Given the description of an element on the screen output the (x, y) to click on. 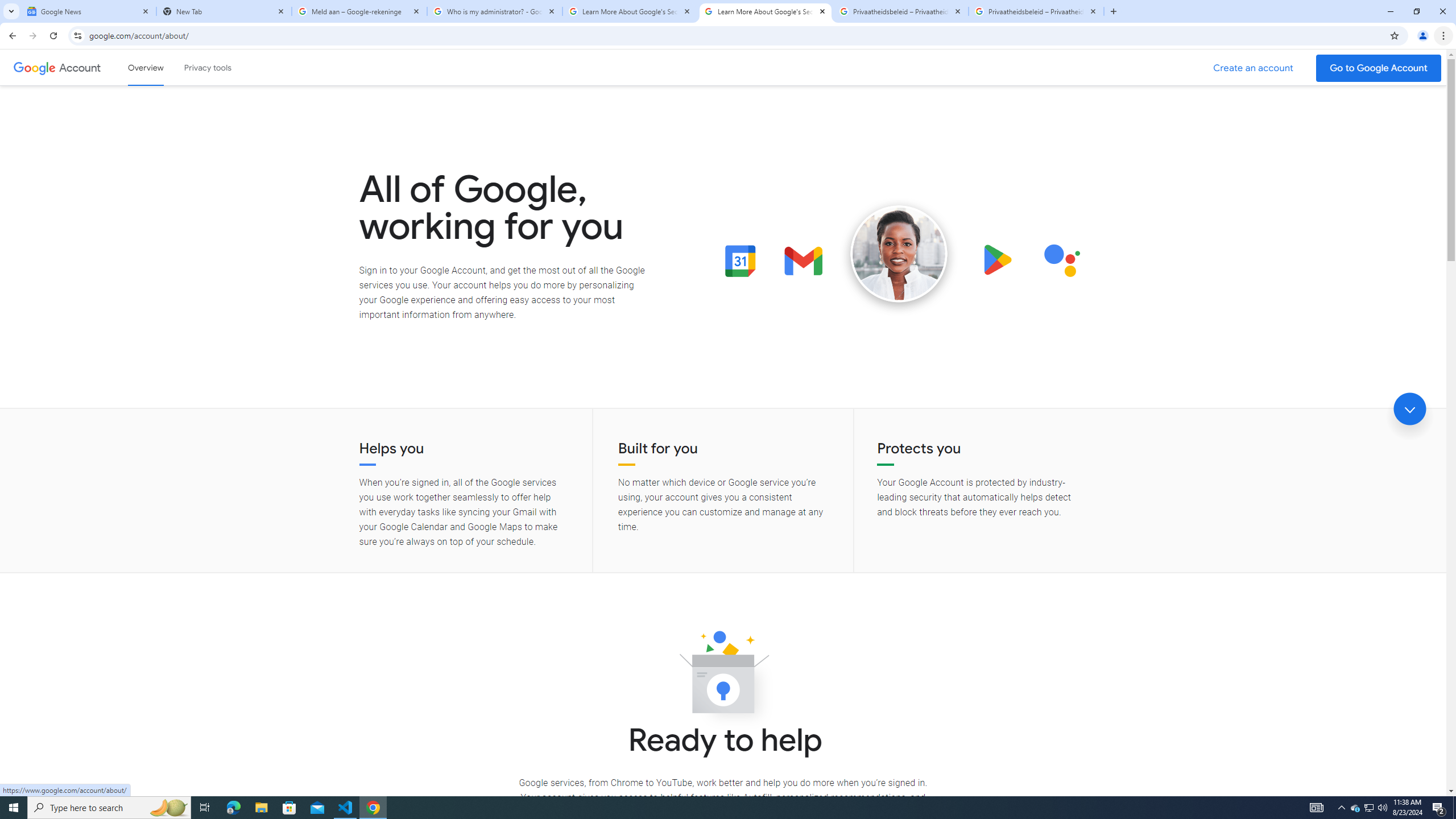
New Tab (224, 11)
Google logo (34, 67)
Go to your Google Account (1378, 67)
Ready to help (722, 675)
Google Account (80, 67)
Who is my administrator? - Google Account Help (494, 11)
